Given the description of an element on the screen output the (x, y) to click on. 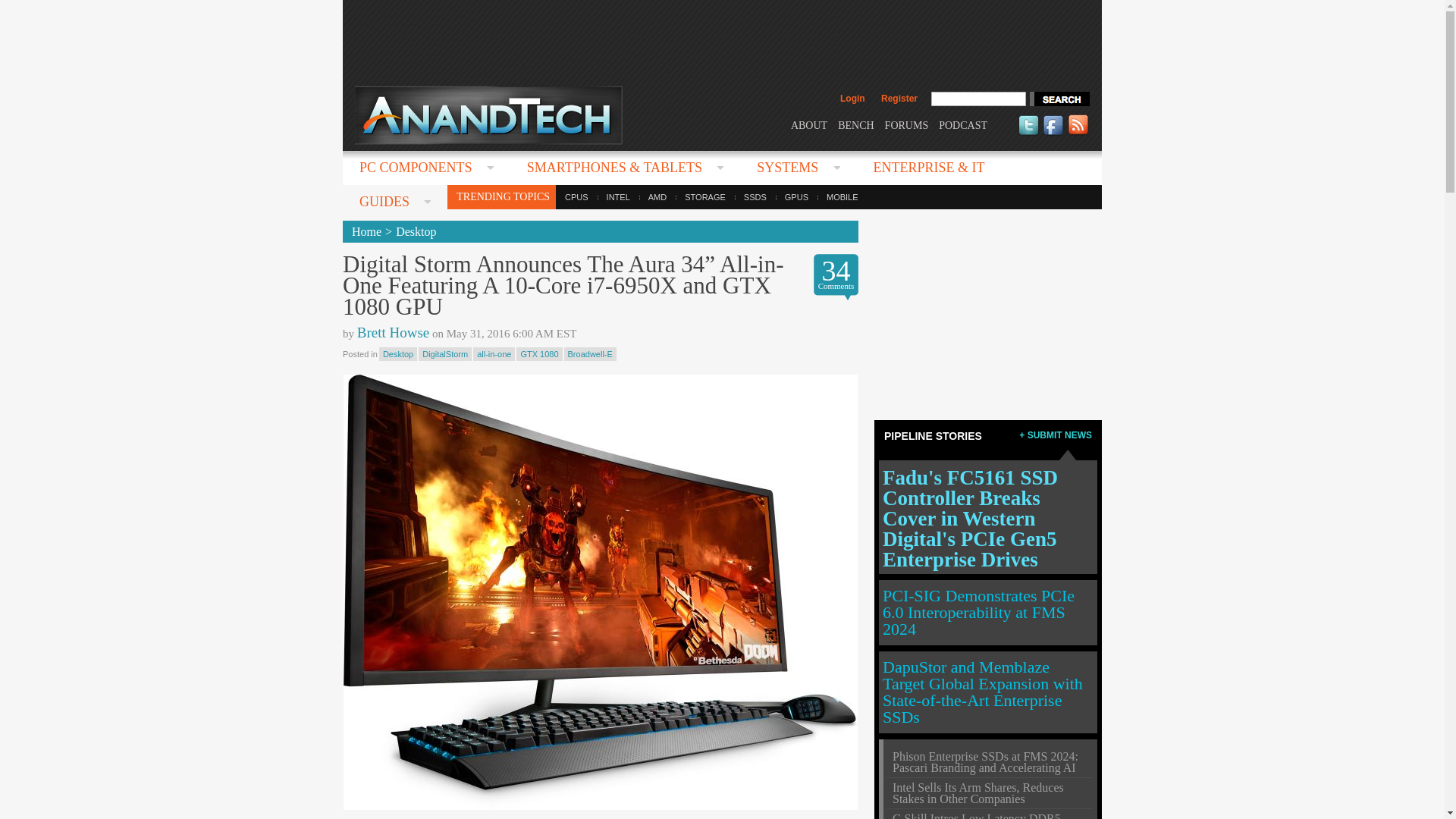
FORUMS (906, 125)
Register (898, 98)
ABOUT (808, 125)
Login (852, 98)
PODCAST (963, 125)
search (1059, 98)
BENCH (855, 125)
search (1059, 98)
search (1059, 98)
